Given the description of an element on the screen output the (x, y) to click on. 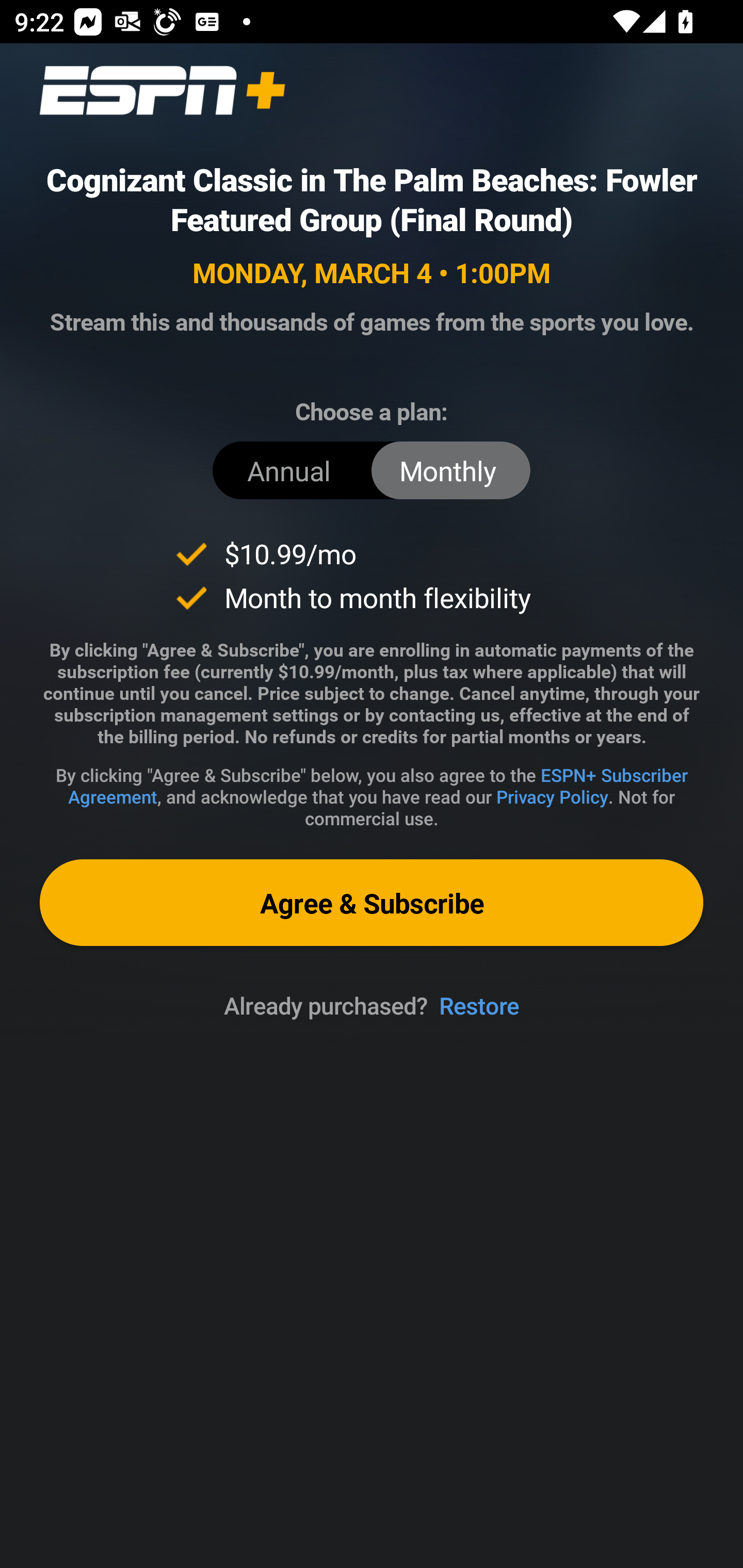
Agree & Subscribe (371, 902)
